Given the description of an element on the screen output the (x, y) to click on. 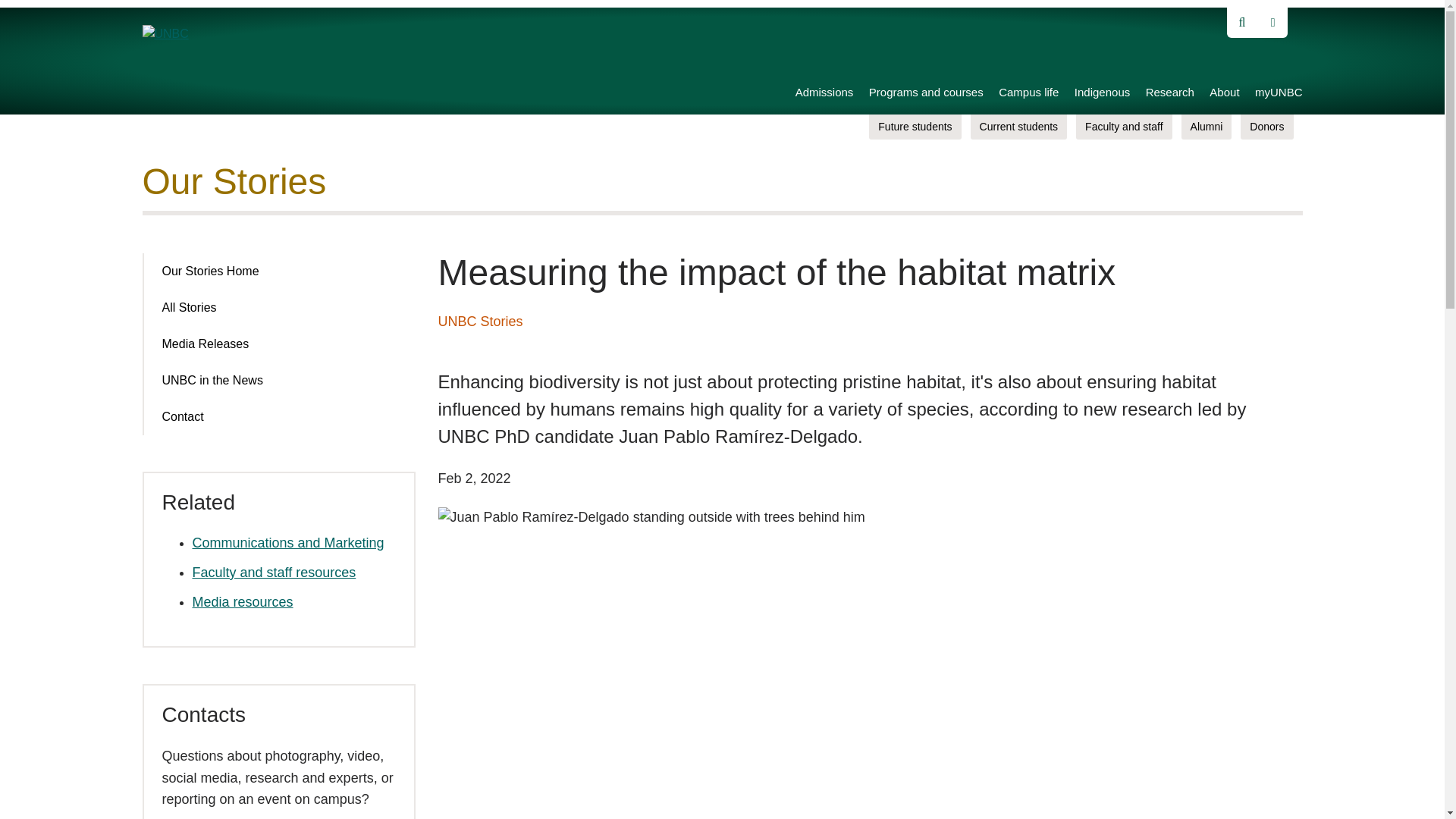
Programs and courses (926, 93)
Admissions (823, 93)
Indigenous (1101, 93)
Campus life (1028, 93)
Search (30, 17)
